Given the description of an element on the screen output the (x, y) to click on. 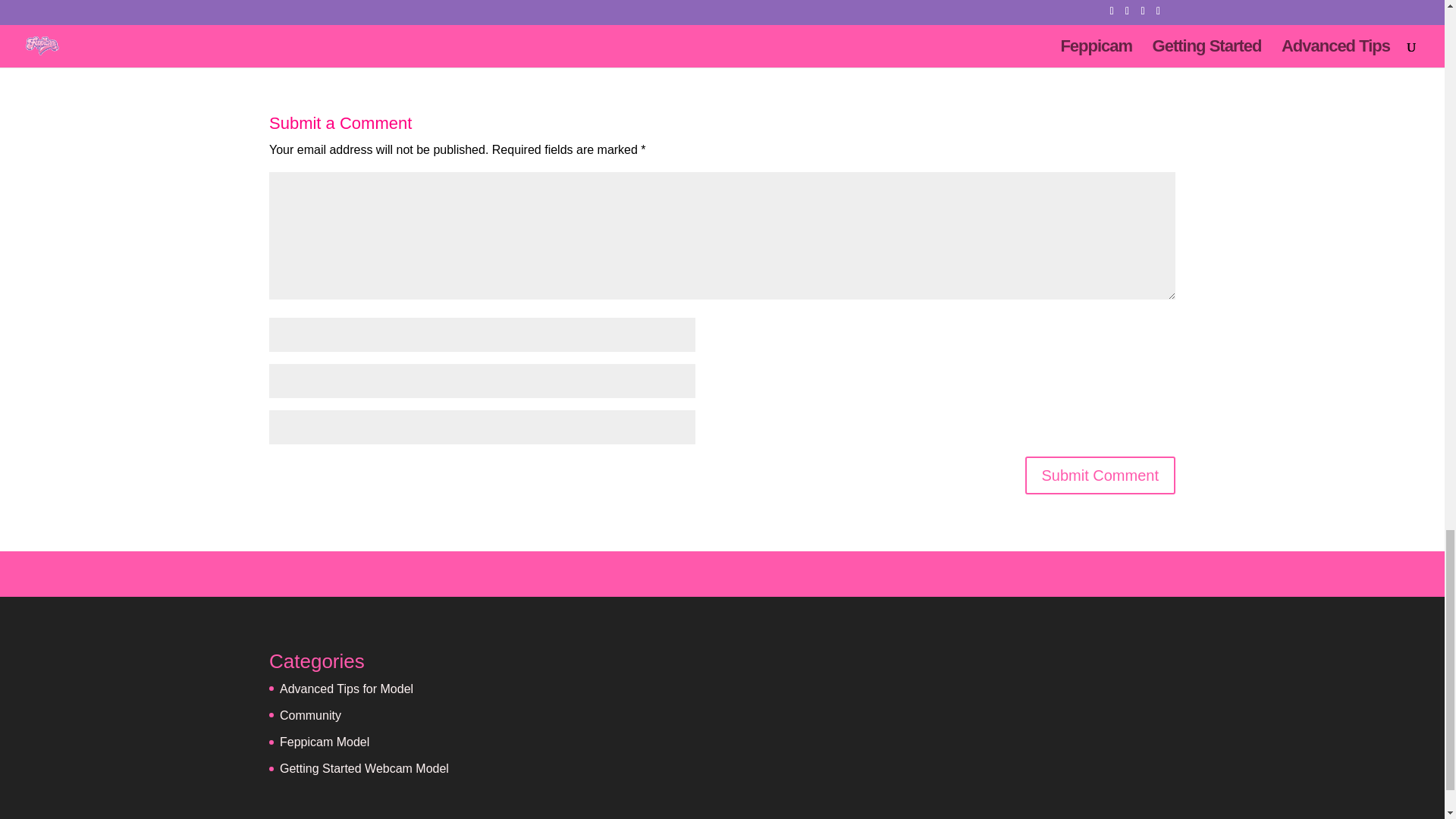
Advanced Tips for Model (346, 688)
Feppicam Model (324, 741)
Community (309, 715)
Submit Comment (1100, 475)
Getting Started Webcam Model (363, 768)
Submit Comment (1100, 475)
